Given the description of an element on the screen output the (x, y) to click on. 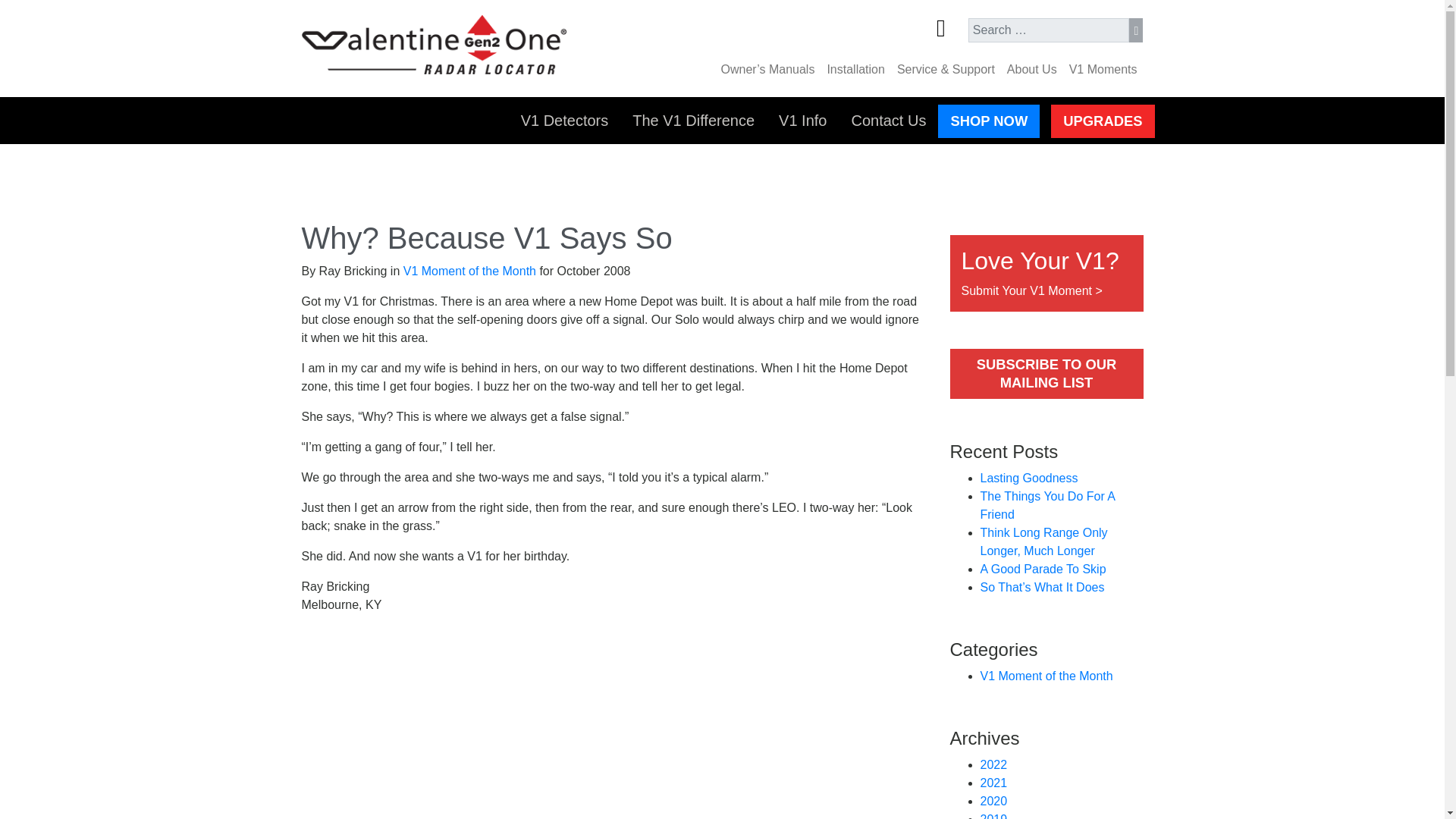
Contact Us (887, 120)
View Cart (952, 31)
V1 Info (802, 120)
V1 Moments (1102, 69)
V1 Detectors (564, 120)
About Us (1031, 69)
Installation (856, 69)
The V1 Difference (693, 120)
